Given the description of an element on the screen output the (x, y) to click on. 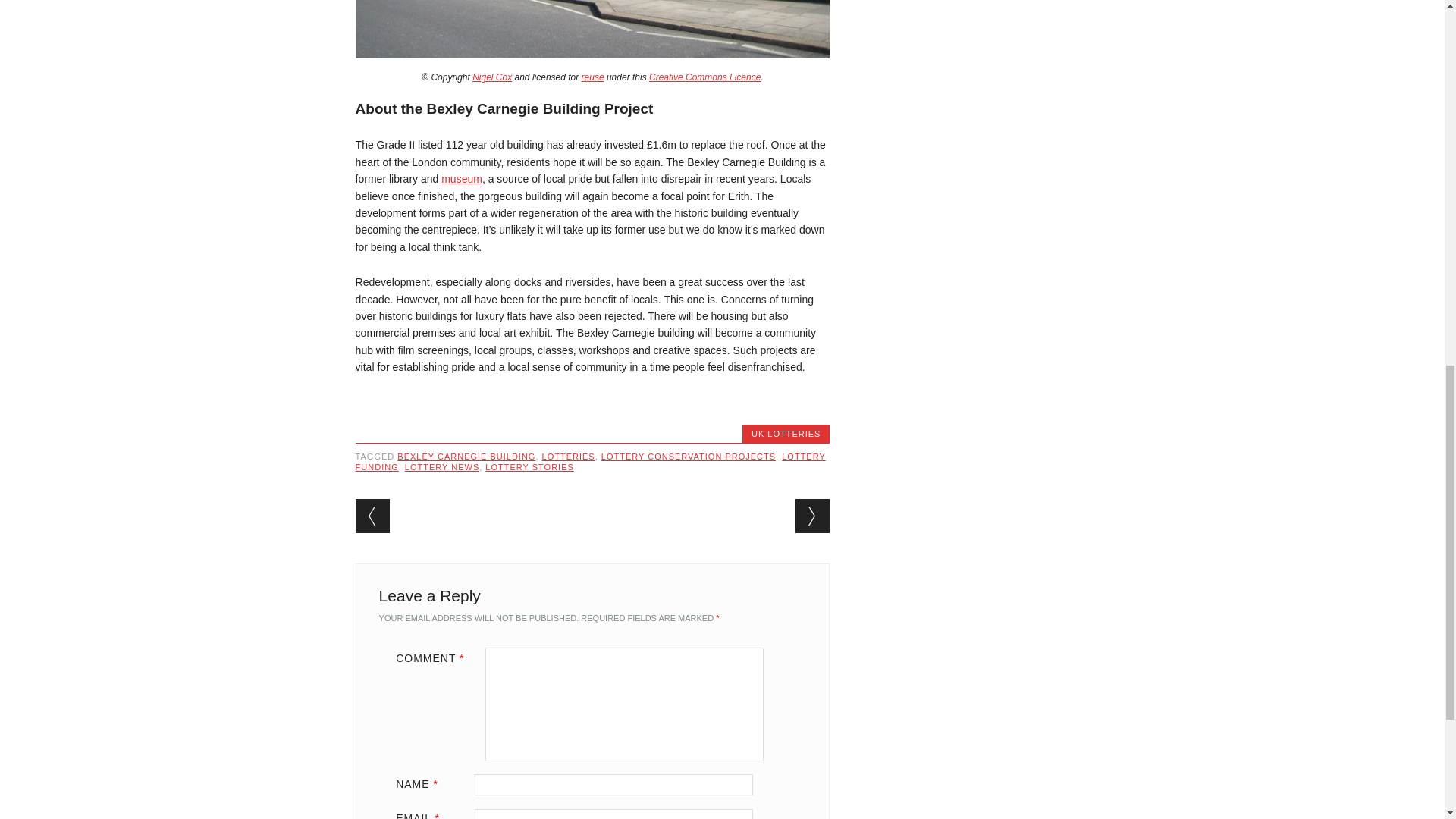
museum (461, 178)
LOTTERY FUNDING (590, 461)
View profile (491, 77)
LOTTERY NEWS (441, 466)
Creative Commons Attribution-Share Alike 2.0 Licence (704, 77)
Nigel Cox (491, 77)
UK LOTTERIES (786, 433)
BEXLEY CARNEGIE BUILDING (466, 456)
LOTTERY CONSERVATION PROJECTS (688, 456)
LOTTERIES (568, 456)
LOTTERY STORIES (528, 466)
Creative Commons Licence (704, 77)
reuse (592, 77)
